Given the description of an element on the screen output the (x, y) to click on. 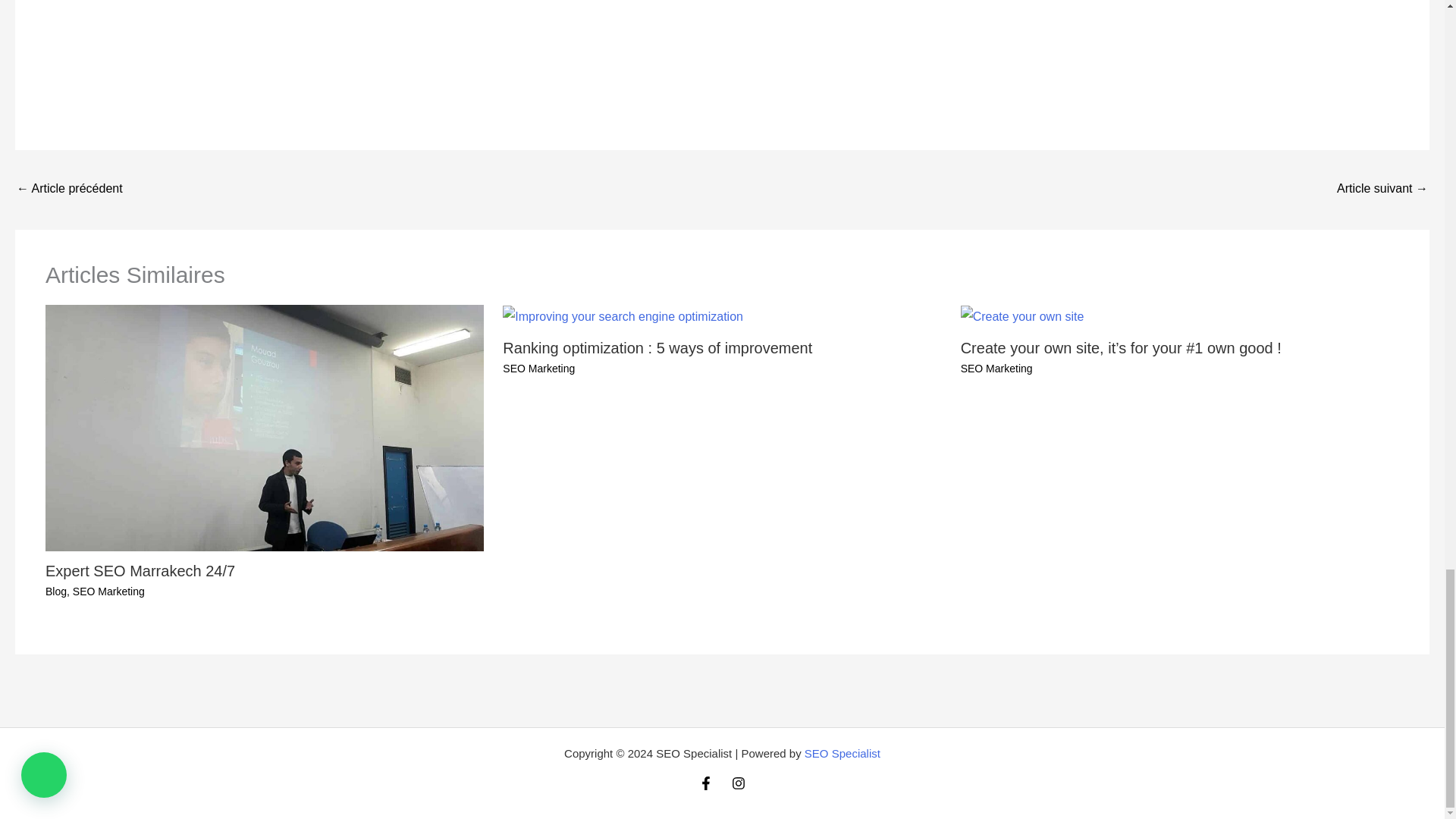
WordPress store theme : 7 tips to choose the one (69, 189)
SEO Marketing (996, 368)
Blog (55, 591)
SEO Specialist (842, 753)
SEO Marketing (108, 591)
SEO Marketing (538, 368)
Ecommerce SEO company tips for a better ranking in 2019 (1382, 189)
Ranking optimization : 5 ways of improvement (657, 347)
